Given the description of an element on the screen output the (x, y) to click on. 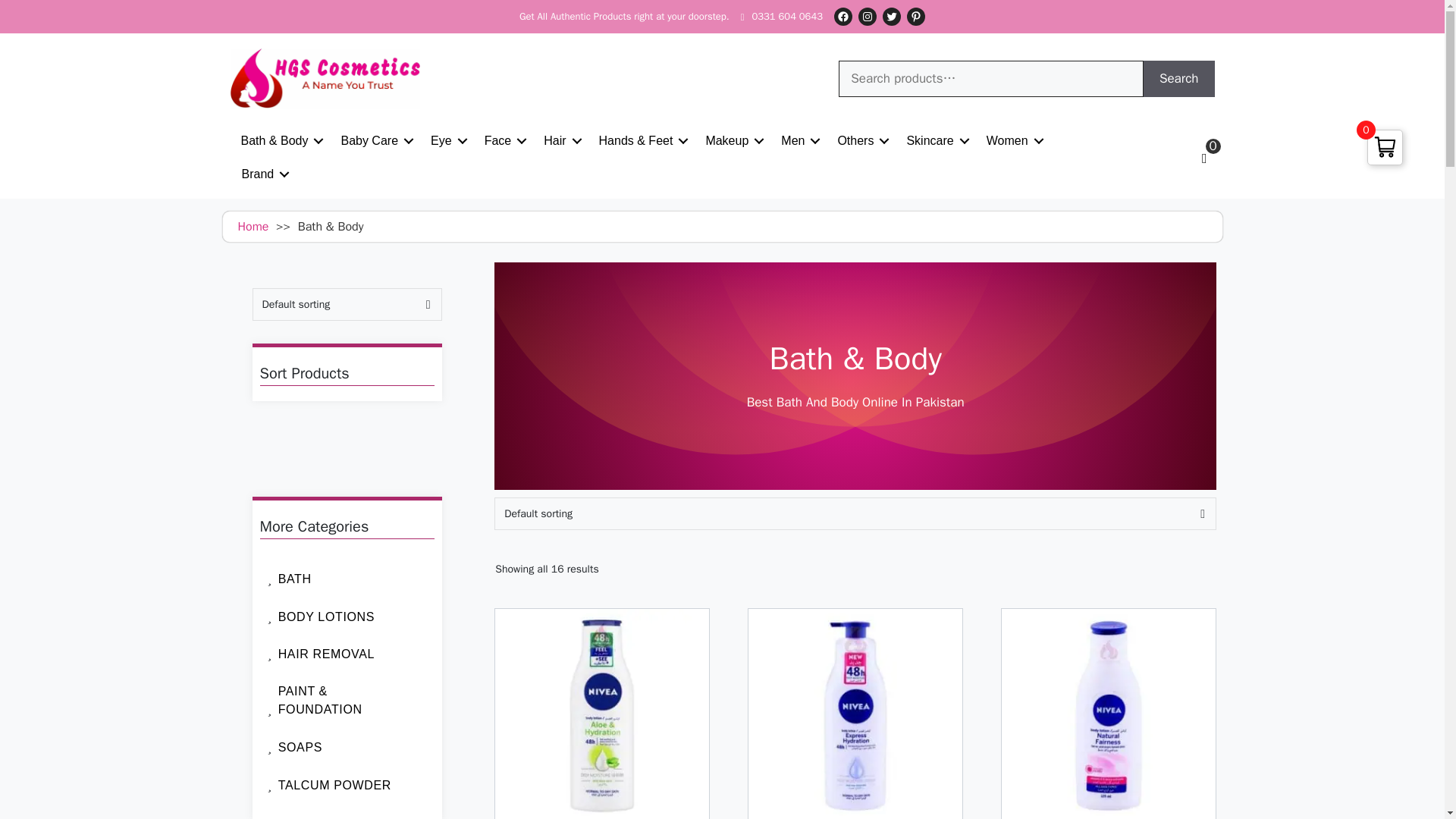
cropped-1-01-scaled-1-1 (325, 78)
Facebook (842, 16)
Eye (446, 141)
Pinterest (915, 16)
Search (1178, 78)
0331 604 0643 (781, 16)
Twitter (891, 16)
Instagram (867, 16)
Baby Care (374, 141)
